Given the description of an element on the screen output the (x, y) to click on. 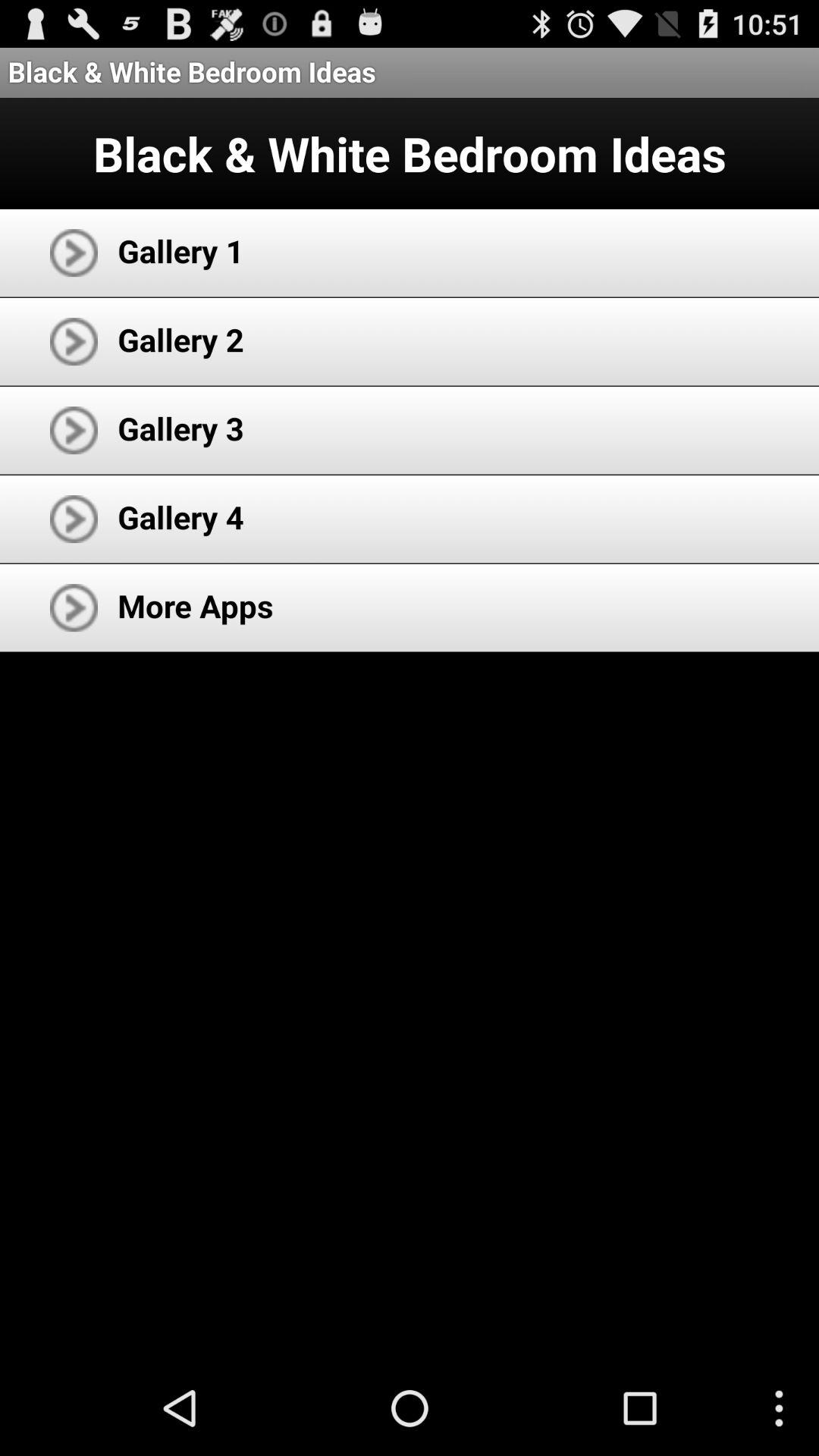
jump to gallery 2 item (180, 339)
